Given the description of an element on the screen output the (x, y) to click on. 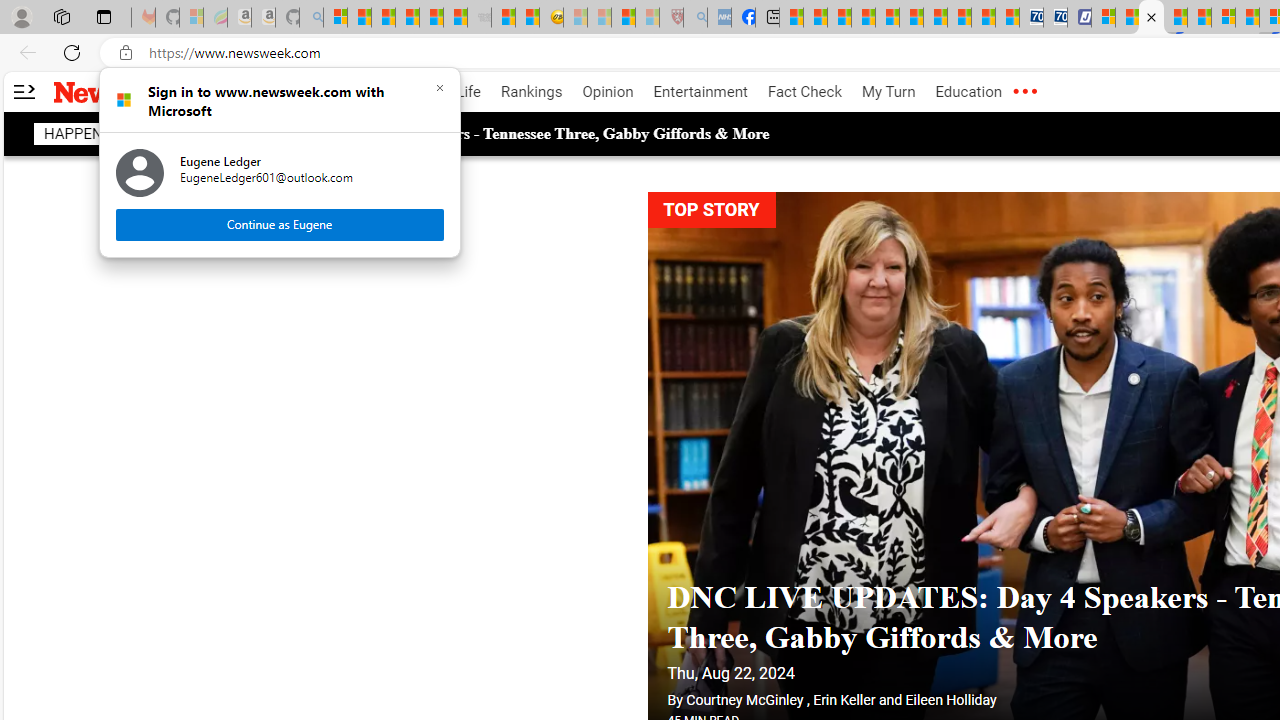
Opinion (607, 92)
Class: the-red (1023, 92)
The Weather Channel - MSN (383, 17)
Newsweek - News, Analysis, Politics, Business, Technology (1151, 17)
Climate Damage Becomes Too Severe To Reverse (863, 17)
AutomationID: side-arrow (23, 92)
